Given the description of an element on the screen output the (x, y) to click on. 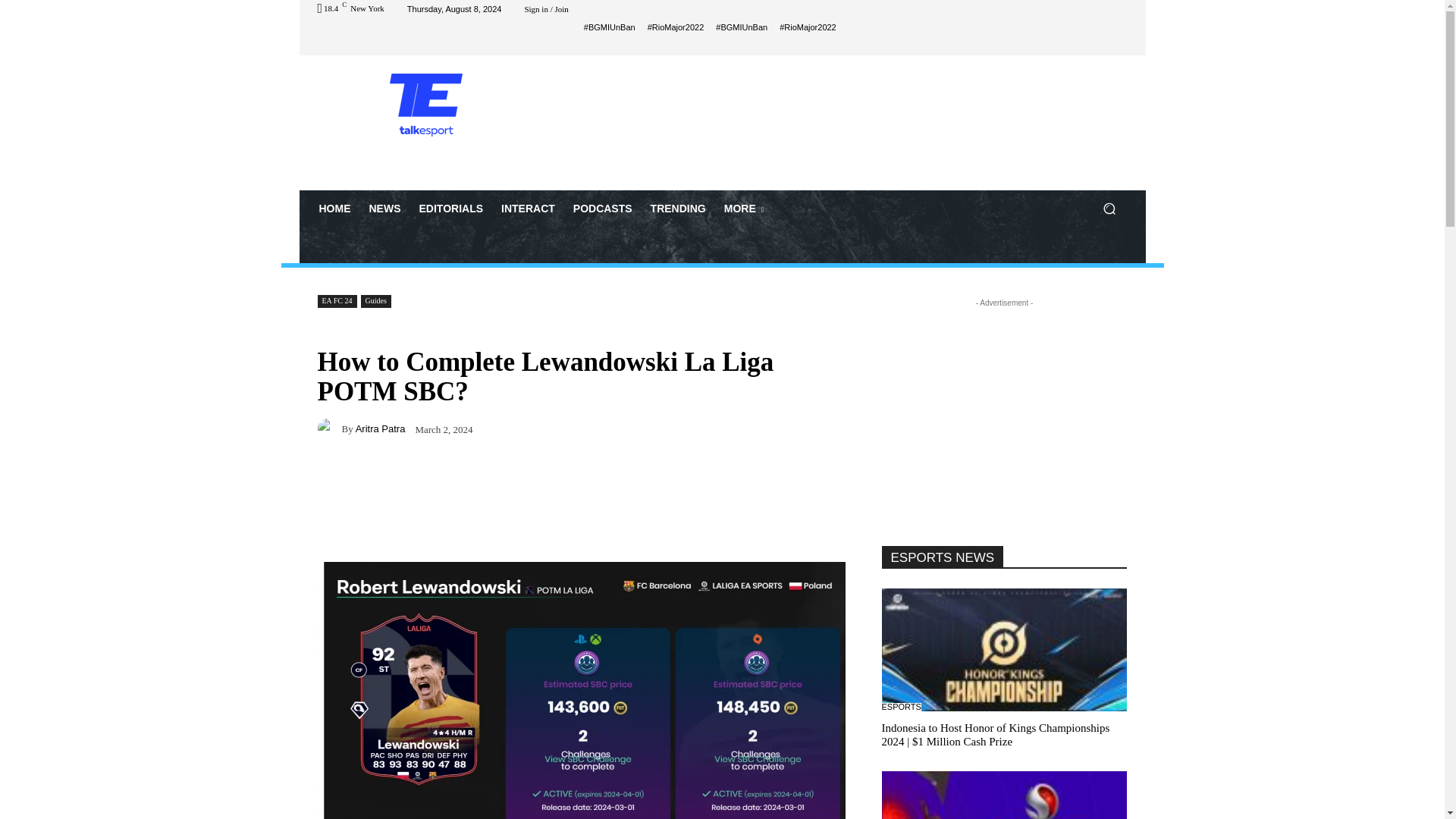
EDITORIALS (450, 208)
HOME (333, 208)
Advertisement (849, 121)
TRENDING (678, 208)
PODCASTS (603, 208)
INTERACT (528, 208)
NEWS (384, 208)
Aritra Patra (328, 428)
